Given the description of an element on the screen output the (x, y) to click on. 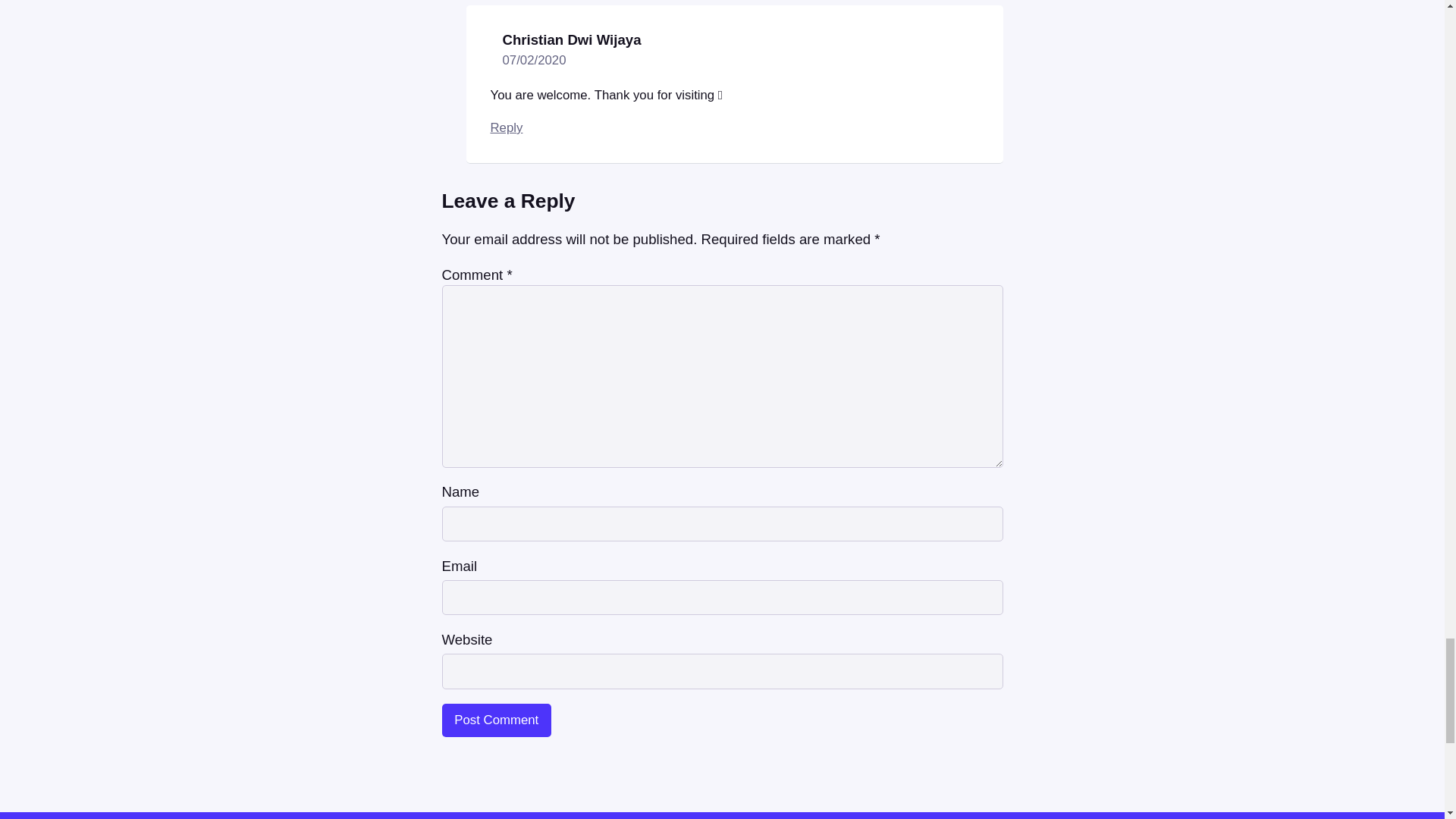
Post Comment (496, 720)
Post Comment (496, 720)
Reply (505, 127)
